Given the description of an element on the screen output the (x, y) to click on. 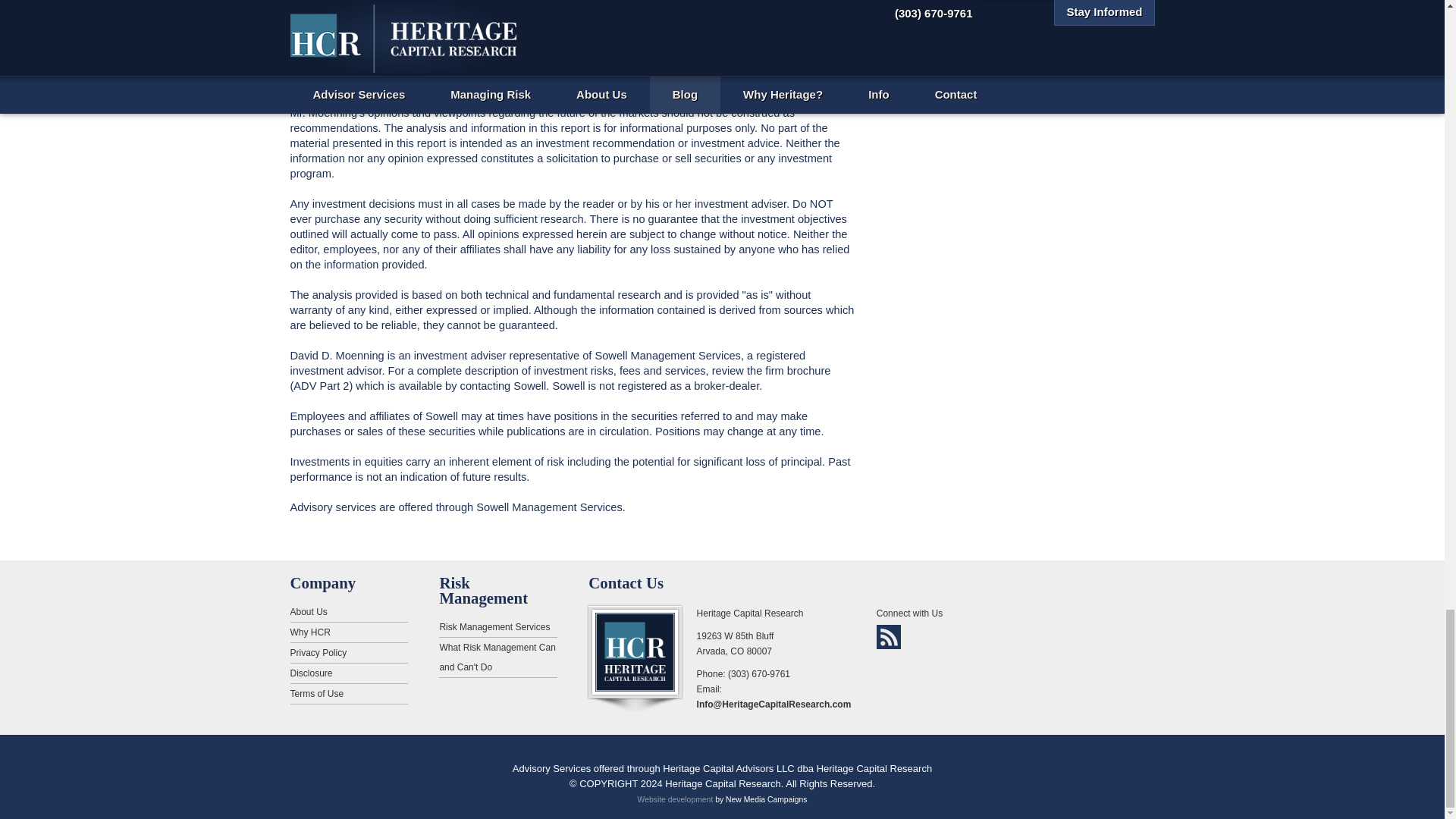
Risk Management Services (497, 627)
Privacy Policy (348, 652)
Website development (675, 799)
Why HCR (348, 632)
What Risk Management Can and Can't Do (497, 658)
About Us (348, 611)
RSS (888, 636)
Terms of Use (348, 693)
Disclosure (348, 673)
